Given the description of an element on the screen output the (x, y) to click on. 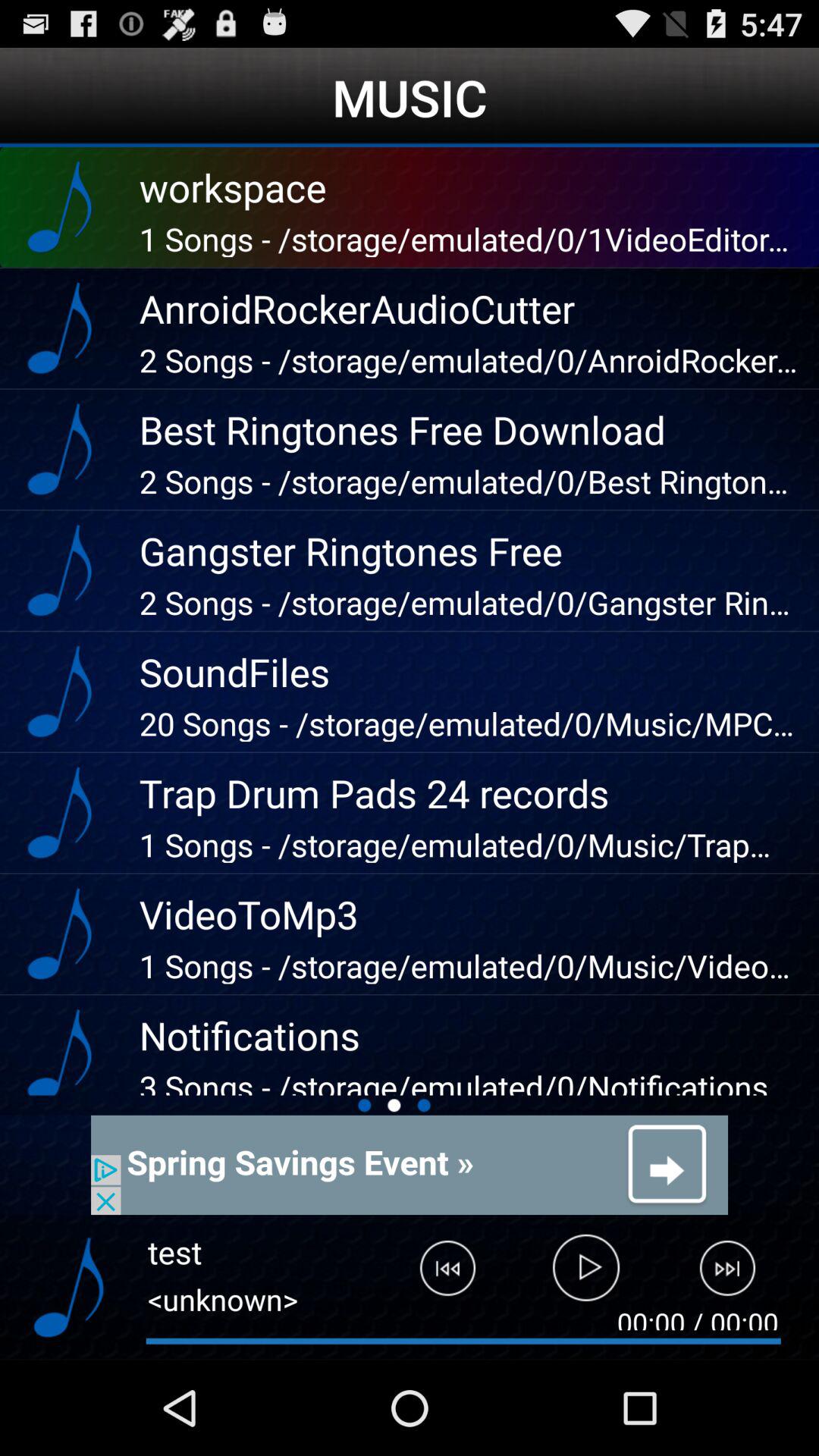
advertisement (409, 1164)
